Given the description of an element on the screen output the (x, y) to click on. 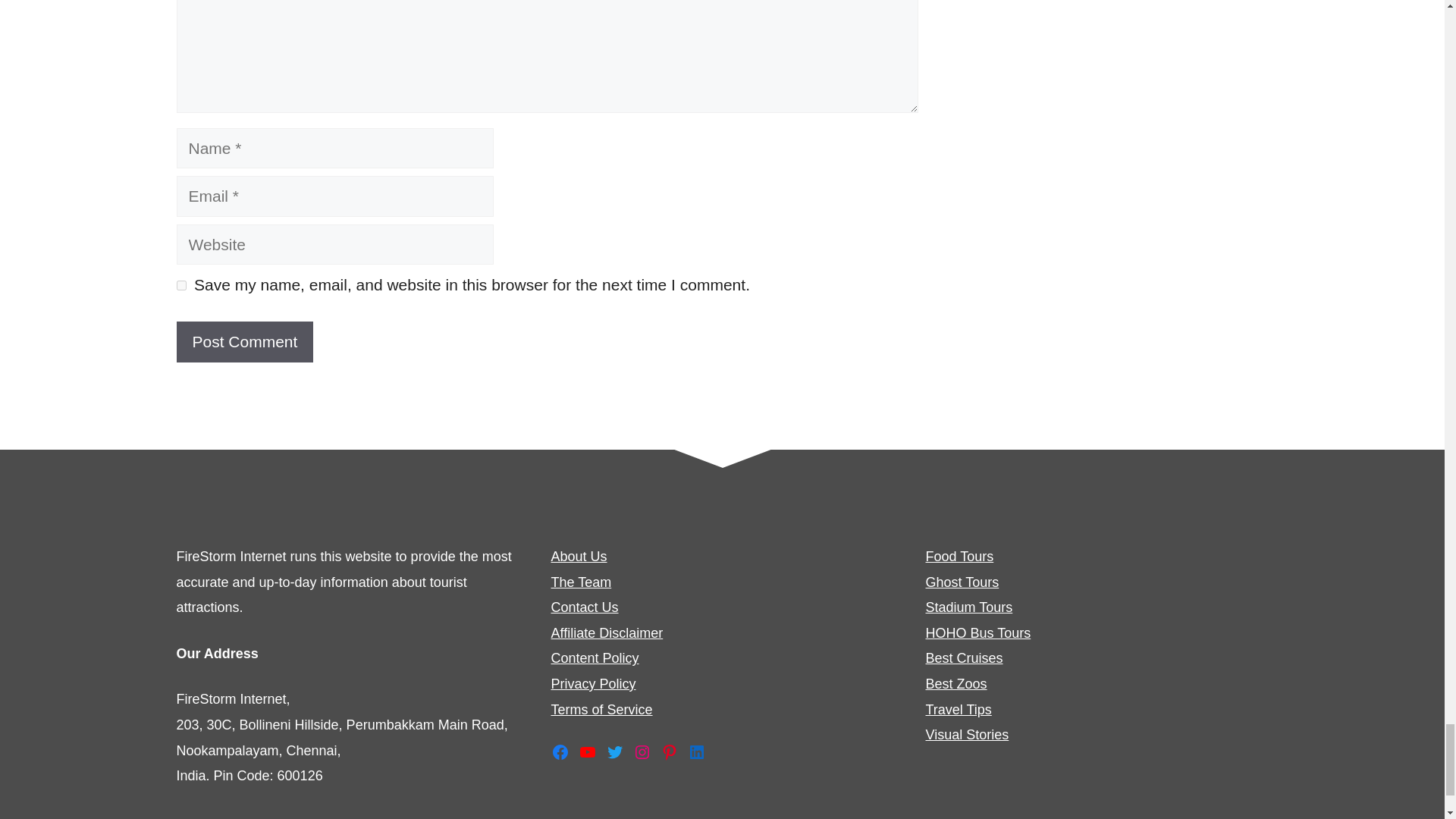
Post Comment (244, 341)
yes (181, 285)
